Given the description of an element on the screen output the (x, y) to click on. 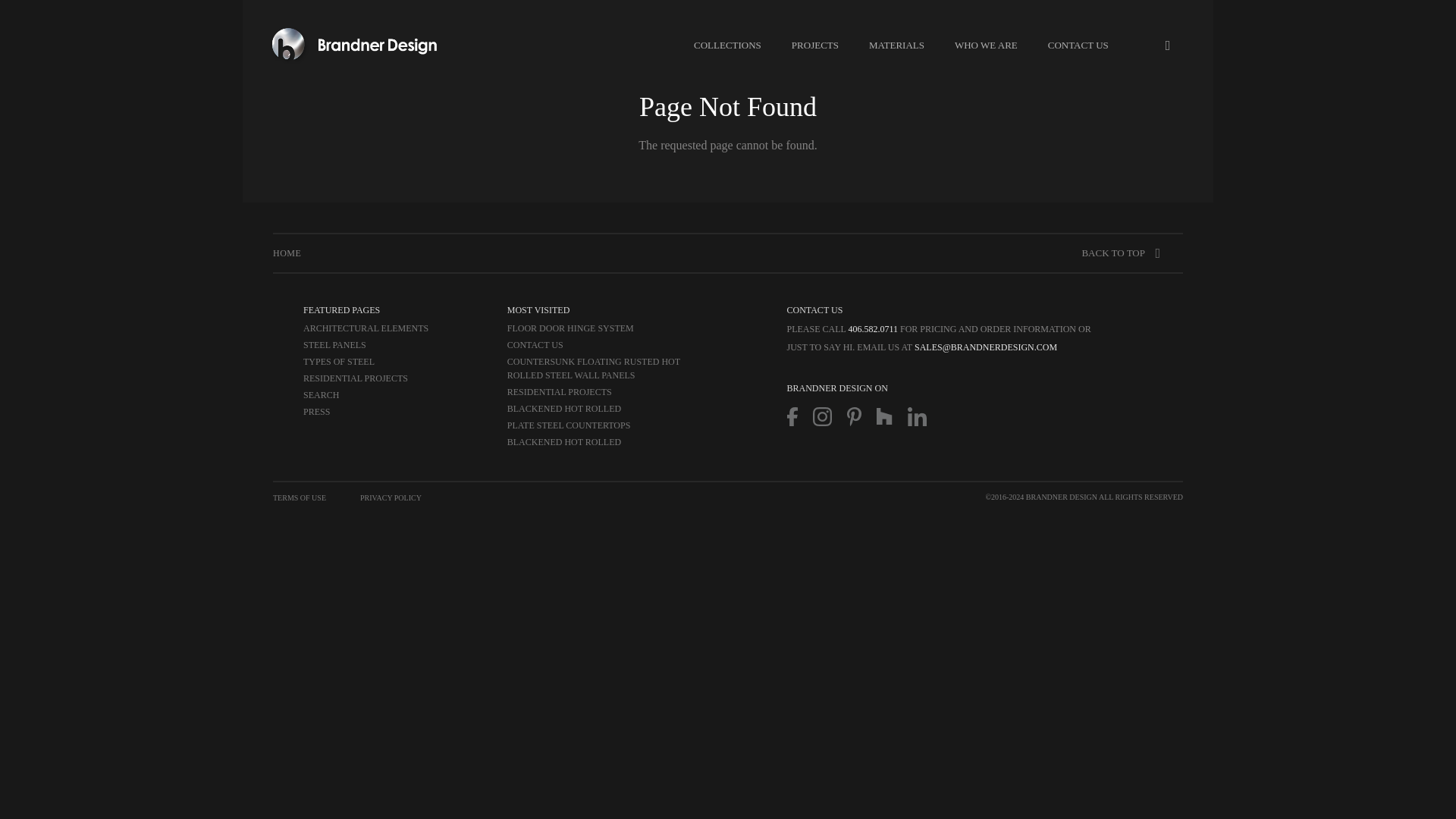
CONTACT US (1078, 45)
COLLECTIONS (727, 45)
PROJECTS (814, 45)
WHO WE ARE (985, 45)
MATERIALS (896, 45)
